Given the description of an element on the screen output the (x, y) to click on. 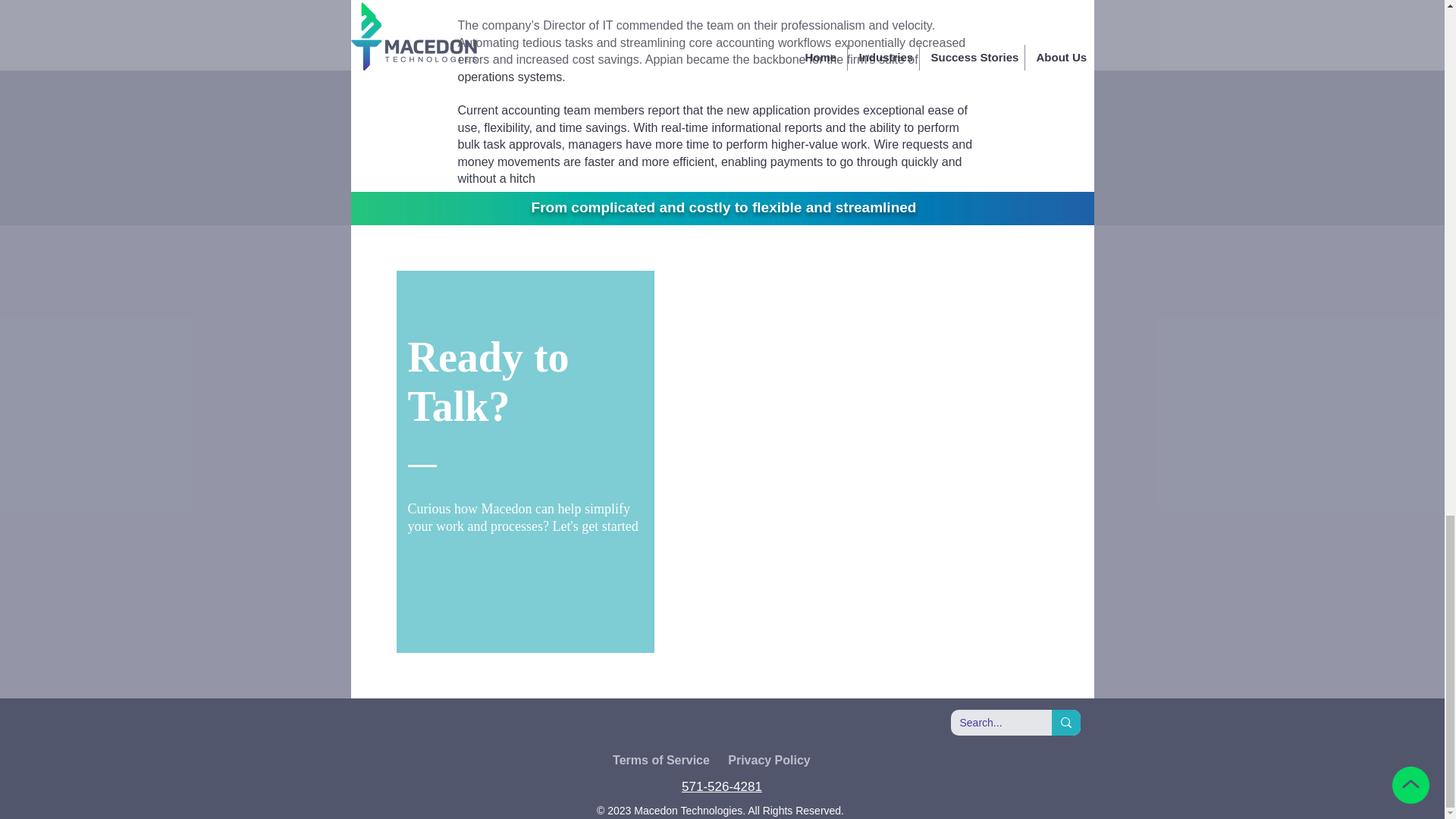
Privacy Policy (770, 760)
571-526-4281 (721, 786)
Terms of Service (662, 760)
